Given the description of an element on the screen output the (x, y) to click on. 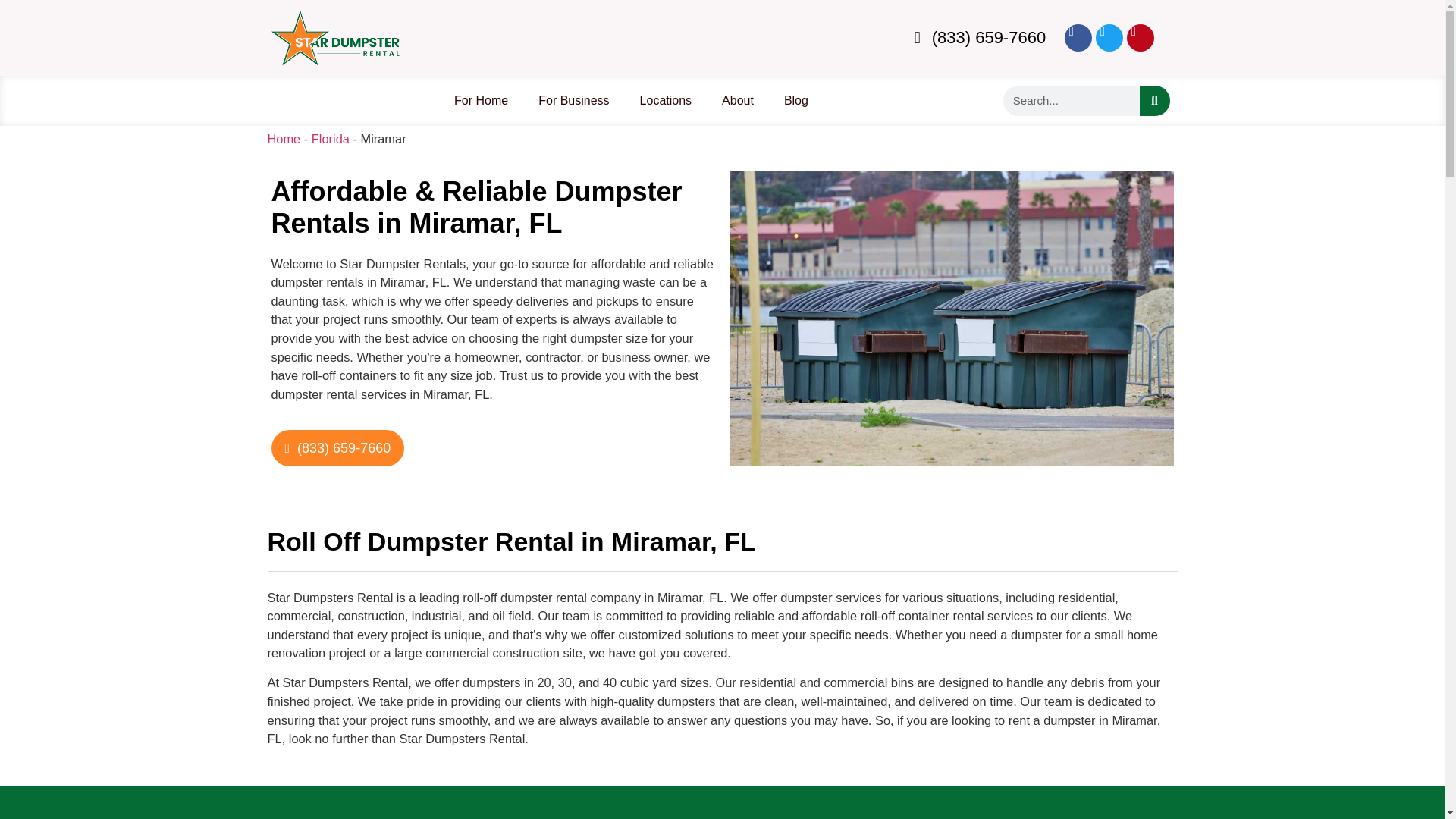
Blog (796, 100)
For Business (573, 100)
Home (282, 138)
Locations (665, 100)
Florida (330, 138)
About (737, 100)
For Home (480, 100)
